Given the description of an element on the screen output the (x, y) to click on. 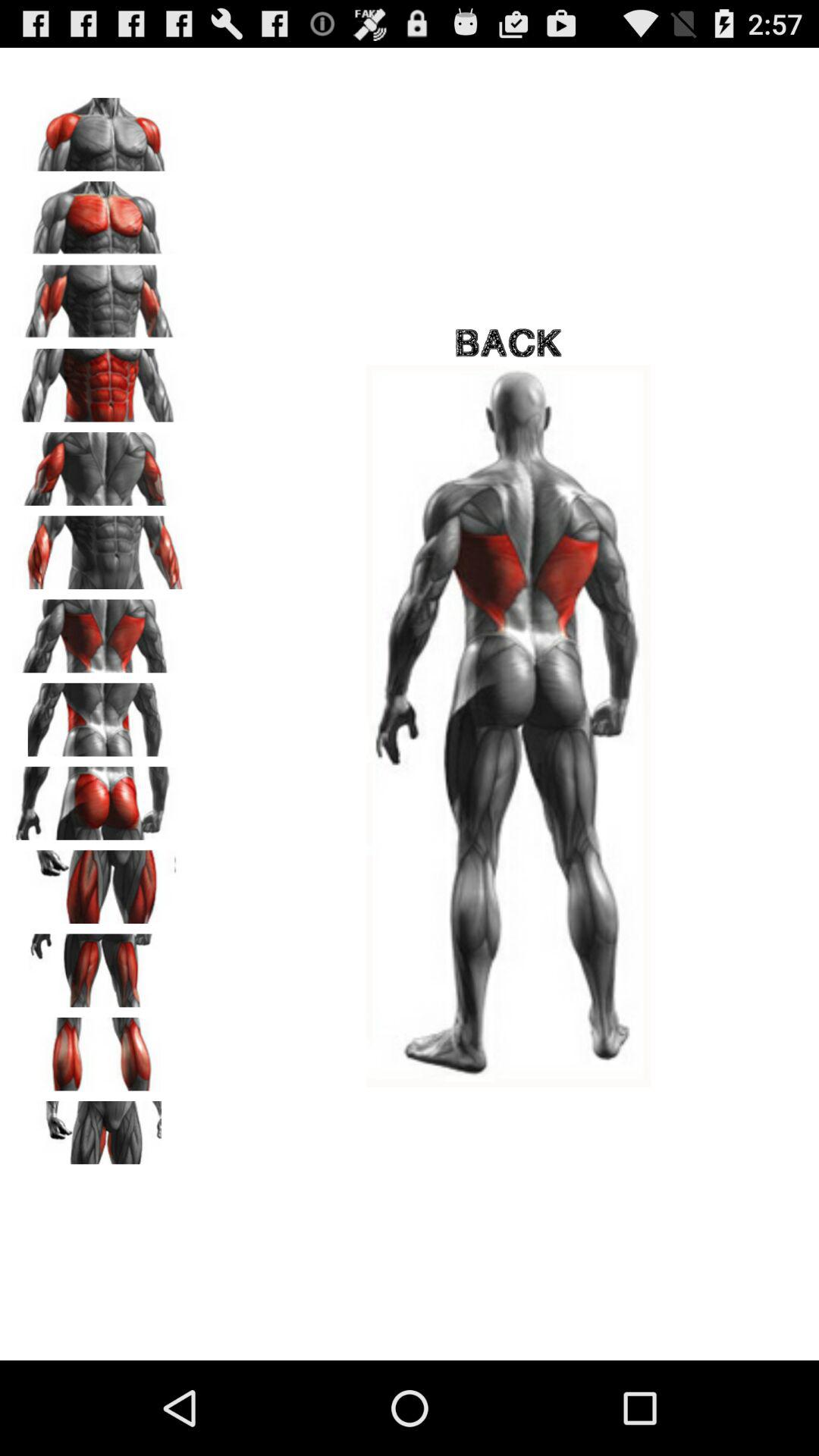
view of an animated human with lungs that are flasing also red points (99, 630)
